Given the description of an element on the screen output the (x, y) to click on. 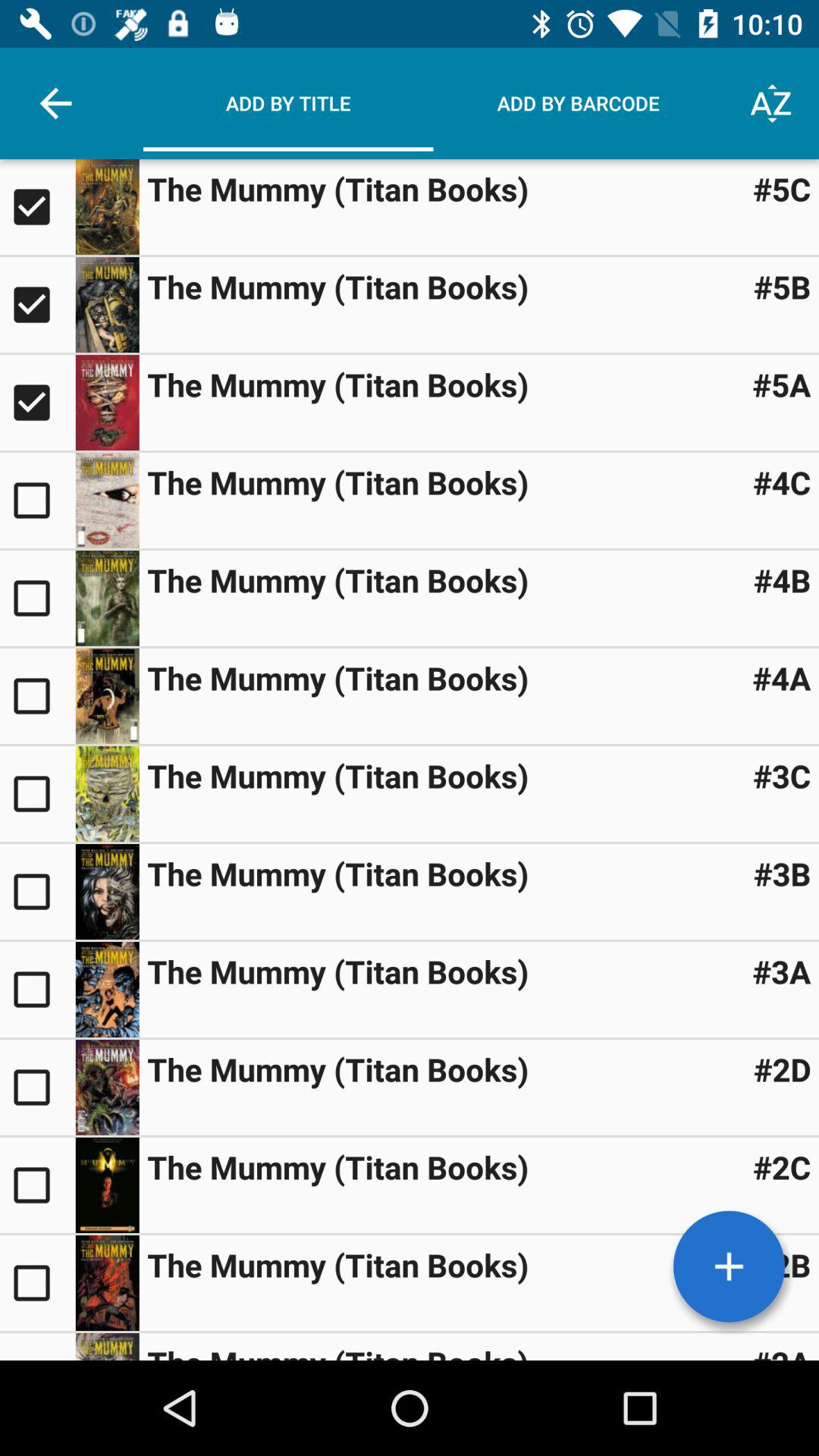
add book (729, 1266)
